Given the description of an element on the screen output the (x, y) to click on. 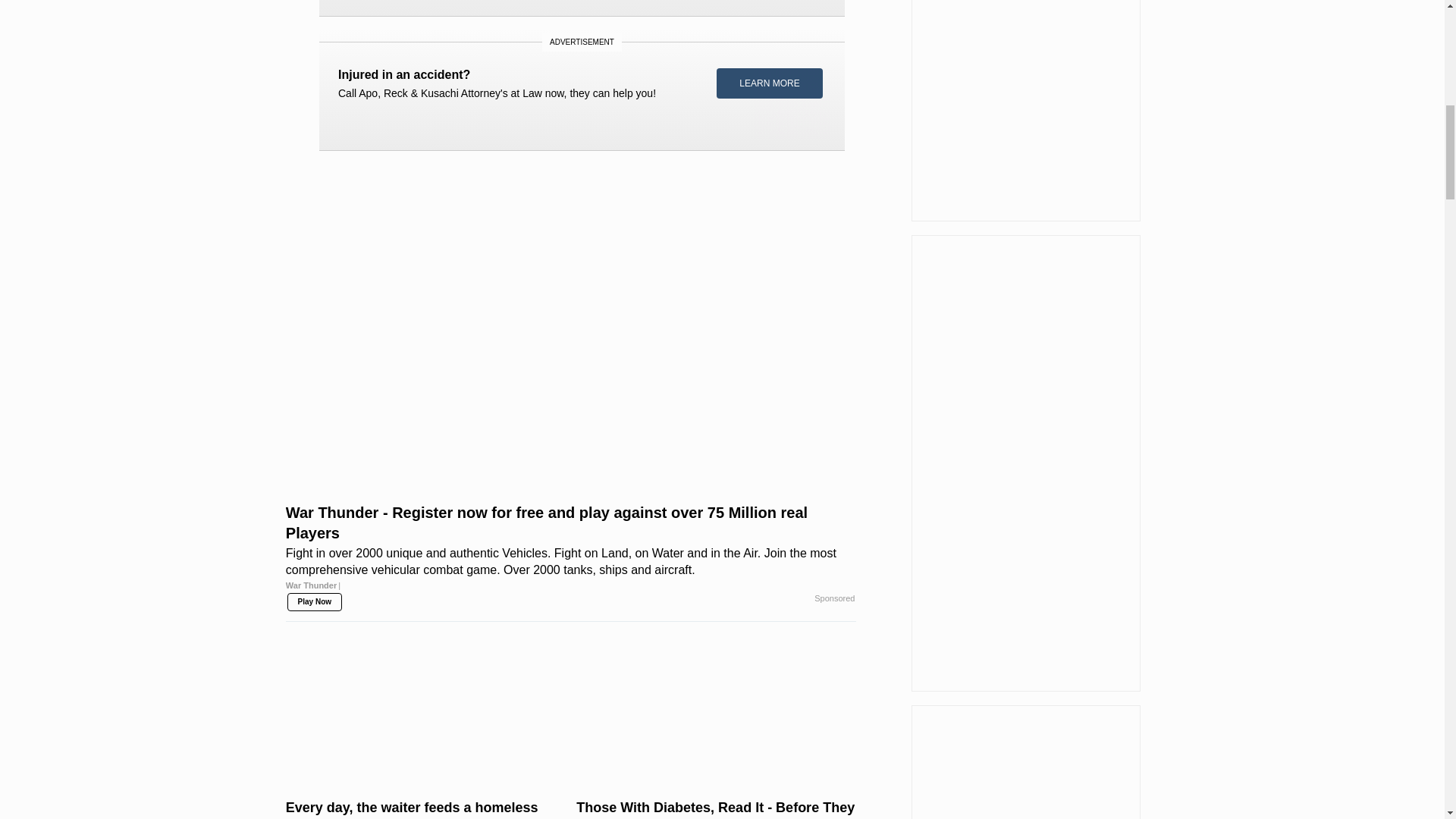
Arrow Up (1404, 15)
3rd party ad content (581, 87)
Those With Diabetes, Read It - Before They Erase It! (716, 716)
3rd party ad content (581, 2)
Those With Diabetes, Read It - Before They Erase It! (716, 808)
